Given the description of an element on the screen output the (x, y) to click on. 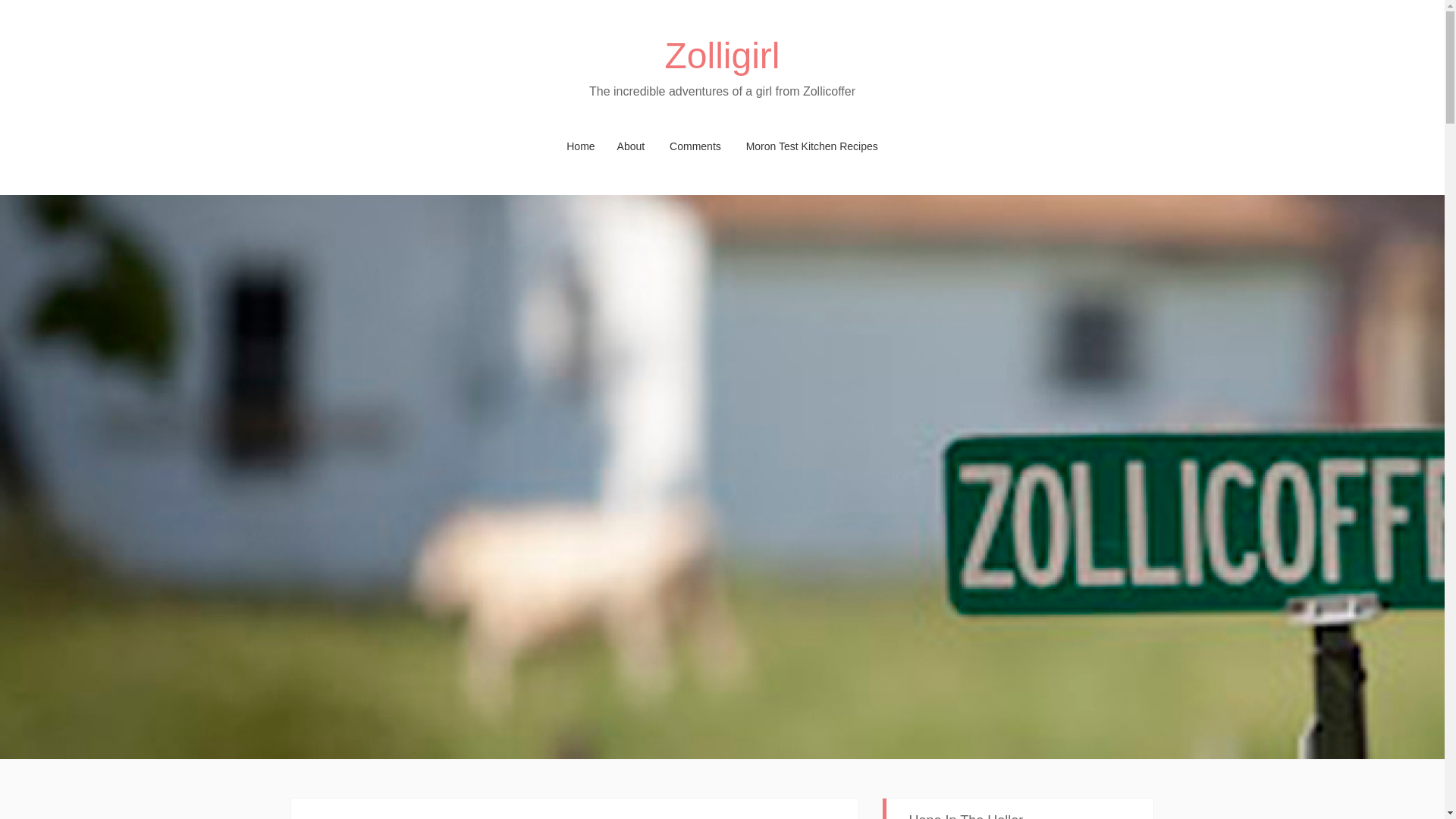
Zolligirl (720, 56)
About (631, 146)
Comments (695, 146)
Moron Test Kitchen Recipes (811, 146)
Home (580, 146)
Zolligirl (720, 56)
Skip to content (324, 146)
